Given the description of an element on the screen output the (x, y) to click on. 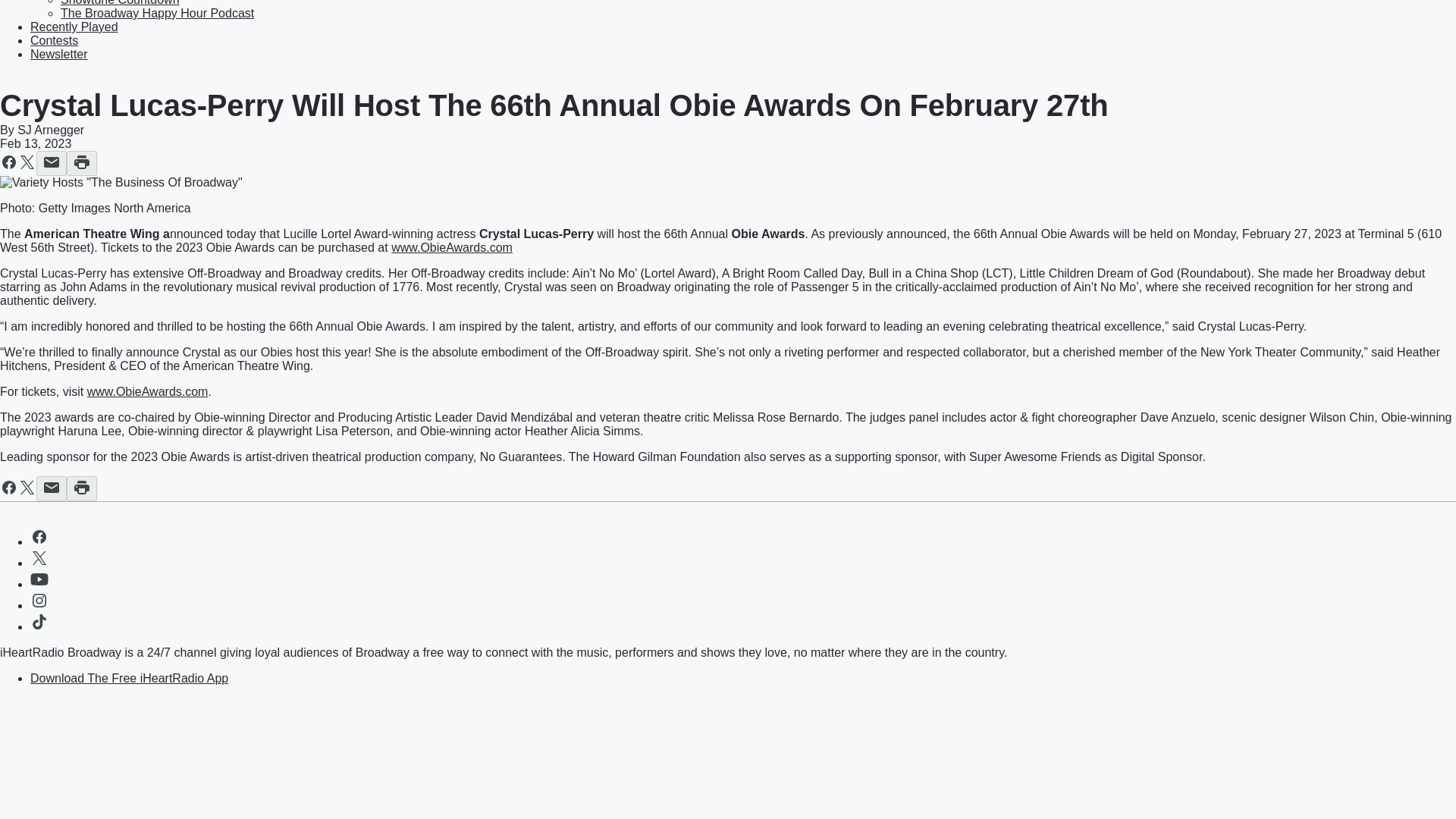
Download The Free iHeartRadio App (129, 677)
Recently Played (73, 26)
www.ObieAwards.com (451, 246)
Showtune Countdown (120, 2)
Newsletter (58, 53)
www.ObieAwards.com (147, 391)
Contests (54, 40)
The Broadway Happy Hour Podcast (157, 12)
